Given the description of an element on the screen output the (x, y) to click on. 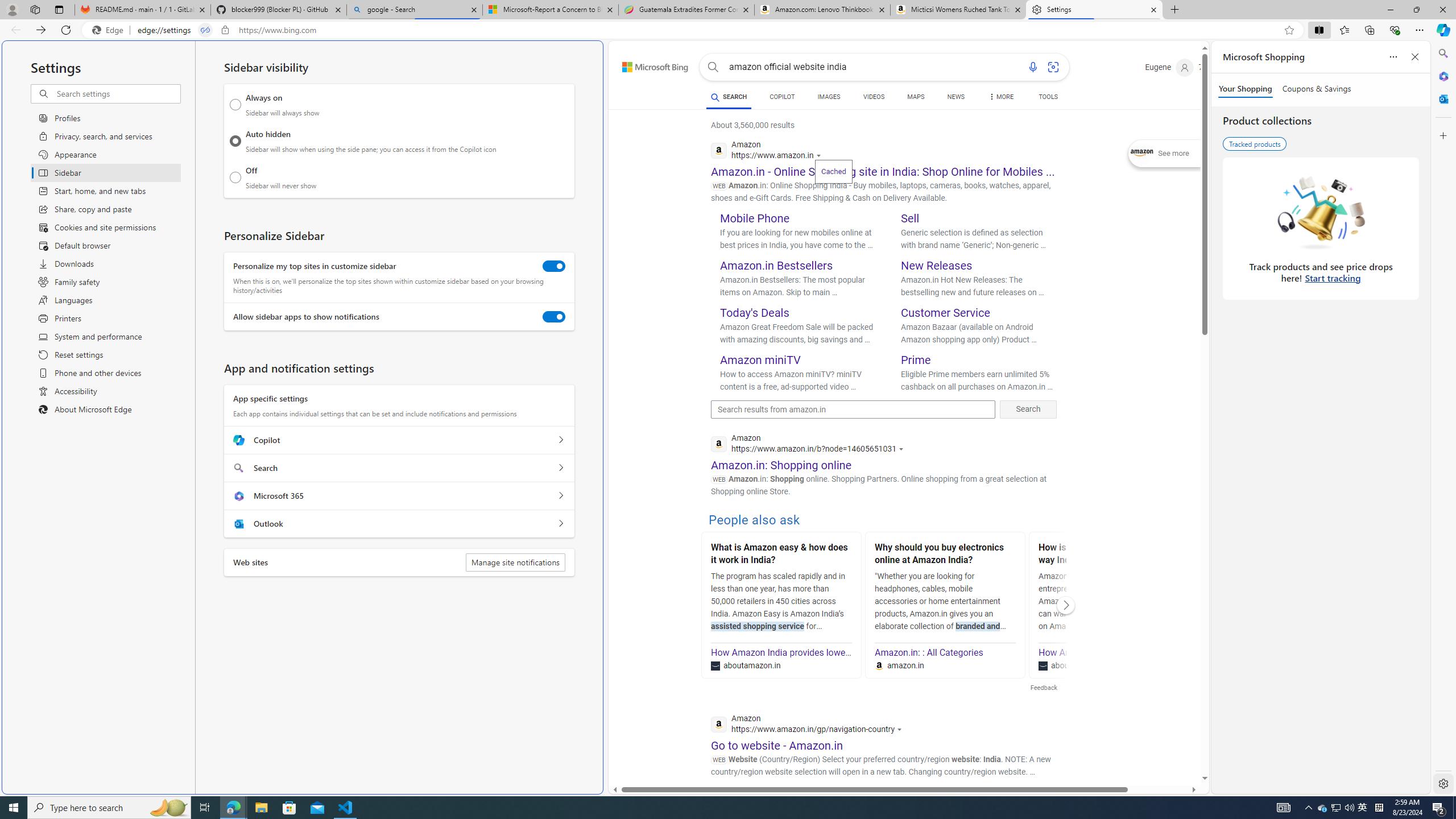
NEWS (955, 98)
Back to Bing search (648, 64)
Amazon.in: Shopping online (780, 464)
Search button (713, 66)
Cached (833, 171)
